Given the description of an element on the screen output the (x, y) to click on. 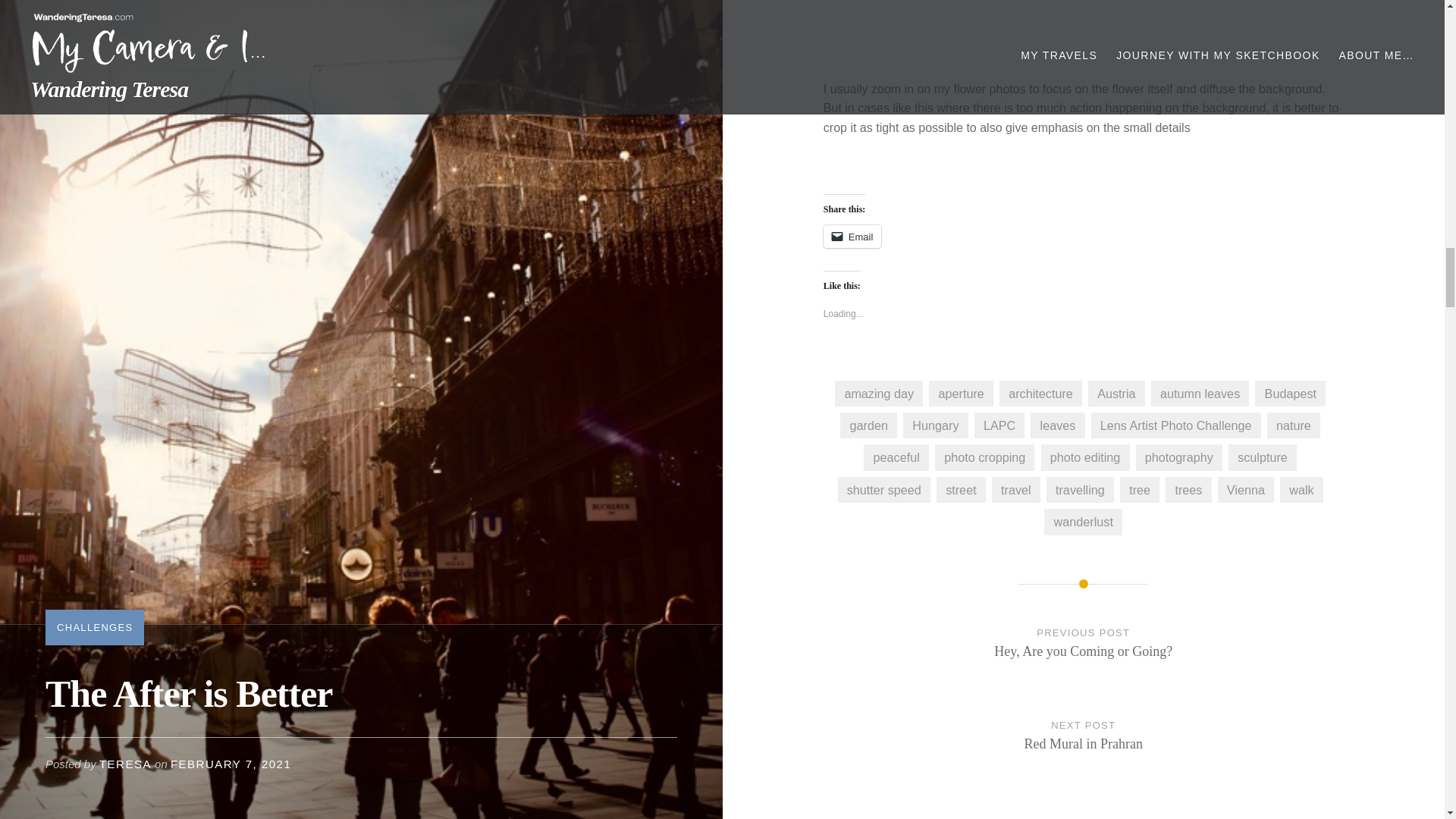
travel (1016, 489)
travelling (1079, 489)
Budapest (1289, 393)
shutter speed (884, 489)
walk (1083, 657)
trees (1301, 489)
Email (1188, 489)
photography (853, 236)
tree (1179, 457)
autumn leaves (1138, 489)
photo cropping (1200, 393)
aperture (983, 457)
peaceful (960, 393)
garden (895, 457)
